Given the description of an element on the screen output the (x, y) to click on. 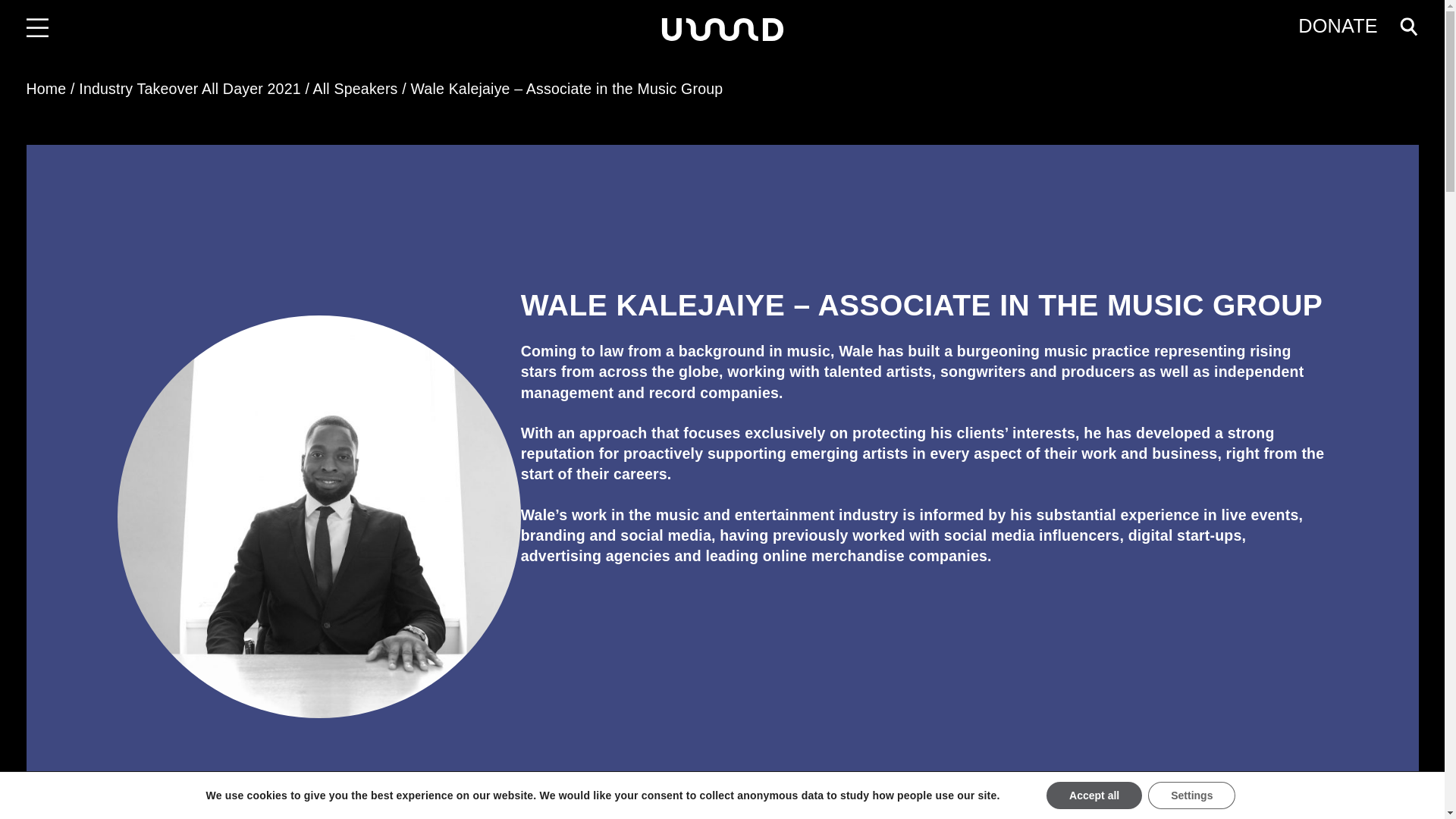
Menu (38, 29)
Search (42, 15)
Home (45, 88)
DONATE (1337, 26)
